Given the description of an element on the screen output the (x, y) to click on. 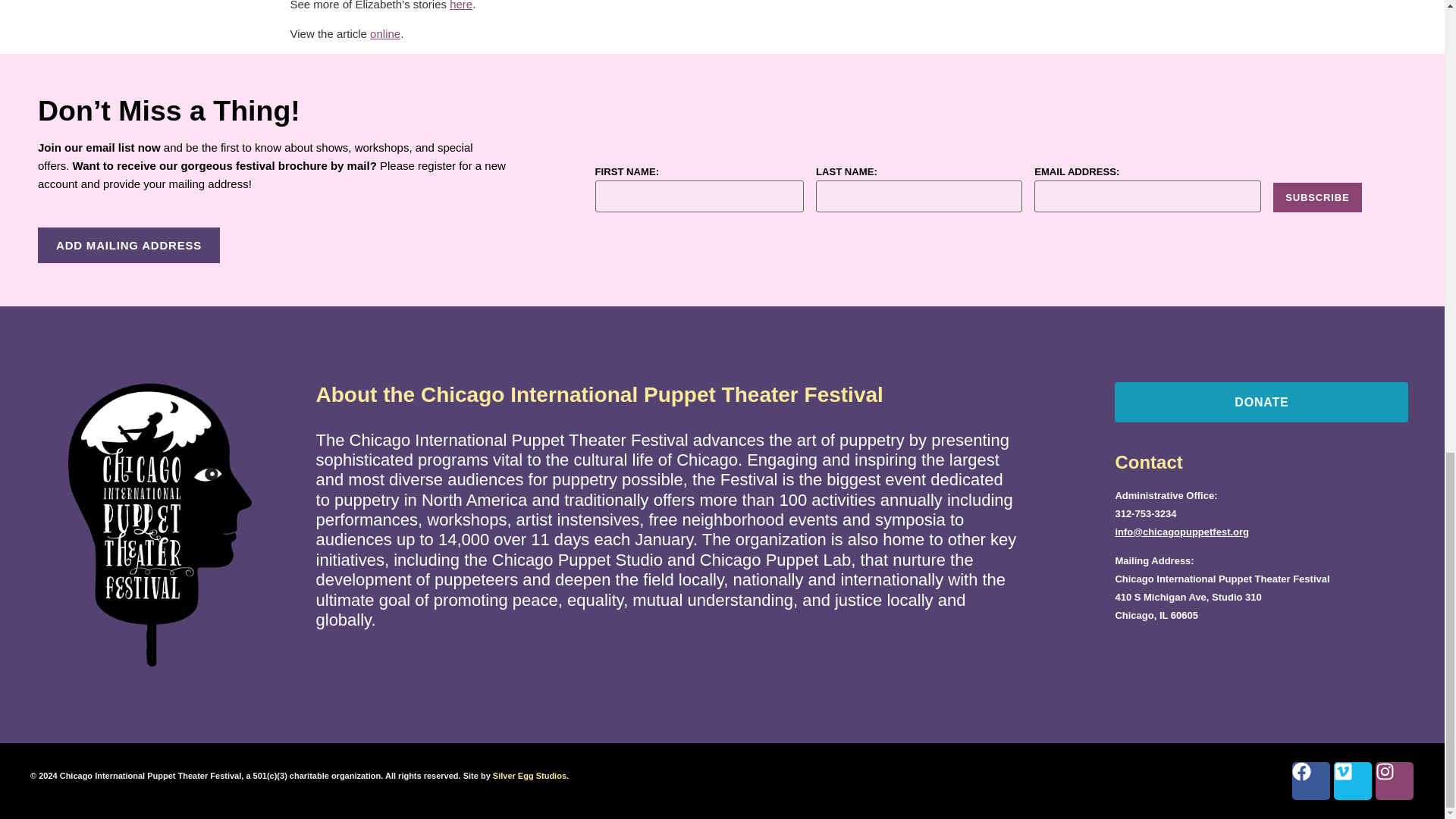
Subscribe (1316, 197)
Subscribe (1316, 197)
